Given the description of an element on the screen output the (x, y) to click on. 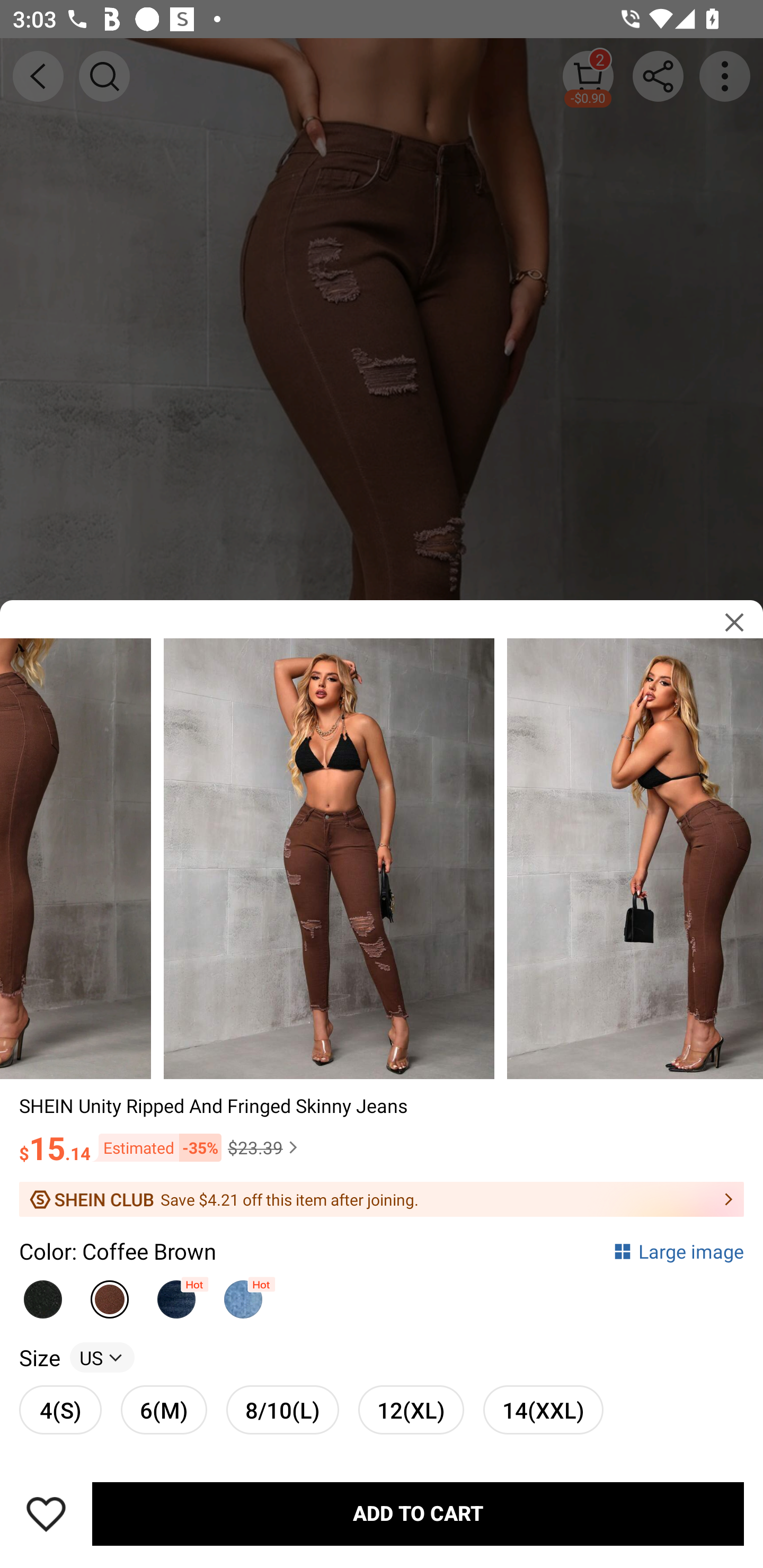
Estimated -35% (155, 1147)
$23.39 (265, 1146)
Save $4.21 off this item after joining. (381, 1199)
Color: Coffee Brown (117, 1250)
Large image (677, 1250)
Black (42, 1294)
Coffee Brown (109, 1294)
Dark Wash (176, 1294)
Light Wash (242, 1294)
Size (39, 1357)
US (102, 1357)
4(S) 4(S)unselected option (60, 1409)
6(M) 6(M)unselected option (163, 1409)
8/10(L) 8/10(L)unselected option (282, 1409)
12(XL) 12(XL)unselected option (410, 1409)
14(XXL) 14(XXL)unselected option (542, 1409)
ADD TO CART (417, 1513)
Save (46, 1513)
